Given the description of an element on the screen output the (x, y) to click on. 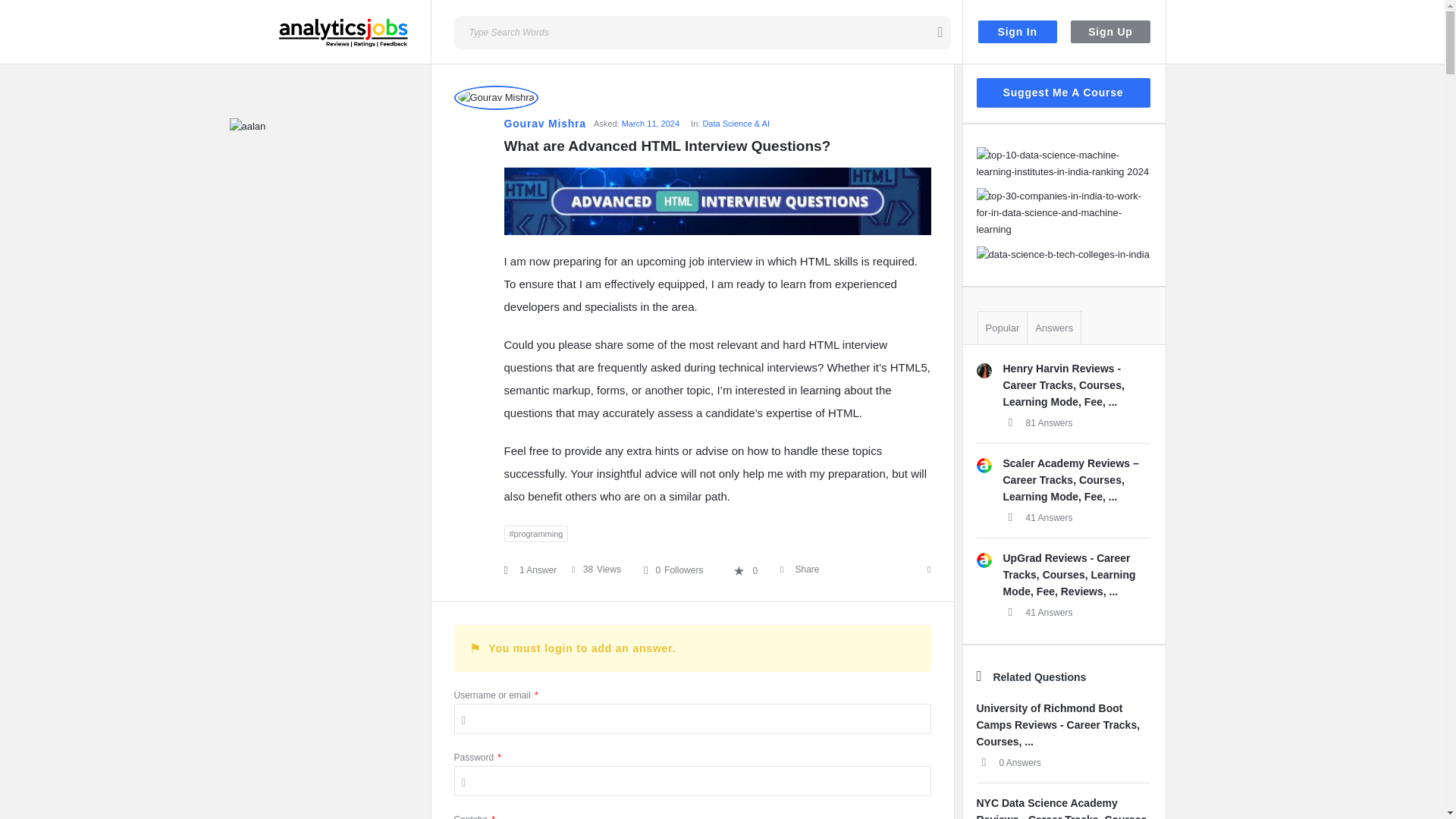
Add this question to favorites (745, 571)
Analytics Jobs (354, 32)
Gourav Mishra (494, 97)
Analytics Jobs (343, 33)
Follow the question (673, 570)
Sign Up (1110, 31)
Sign In (1017, 31)
